Given the description of an element on the screen output the (x, y) to click on. 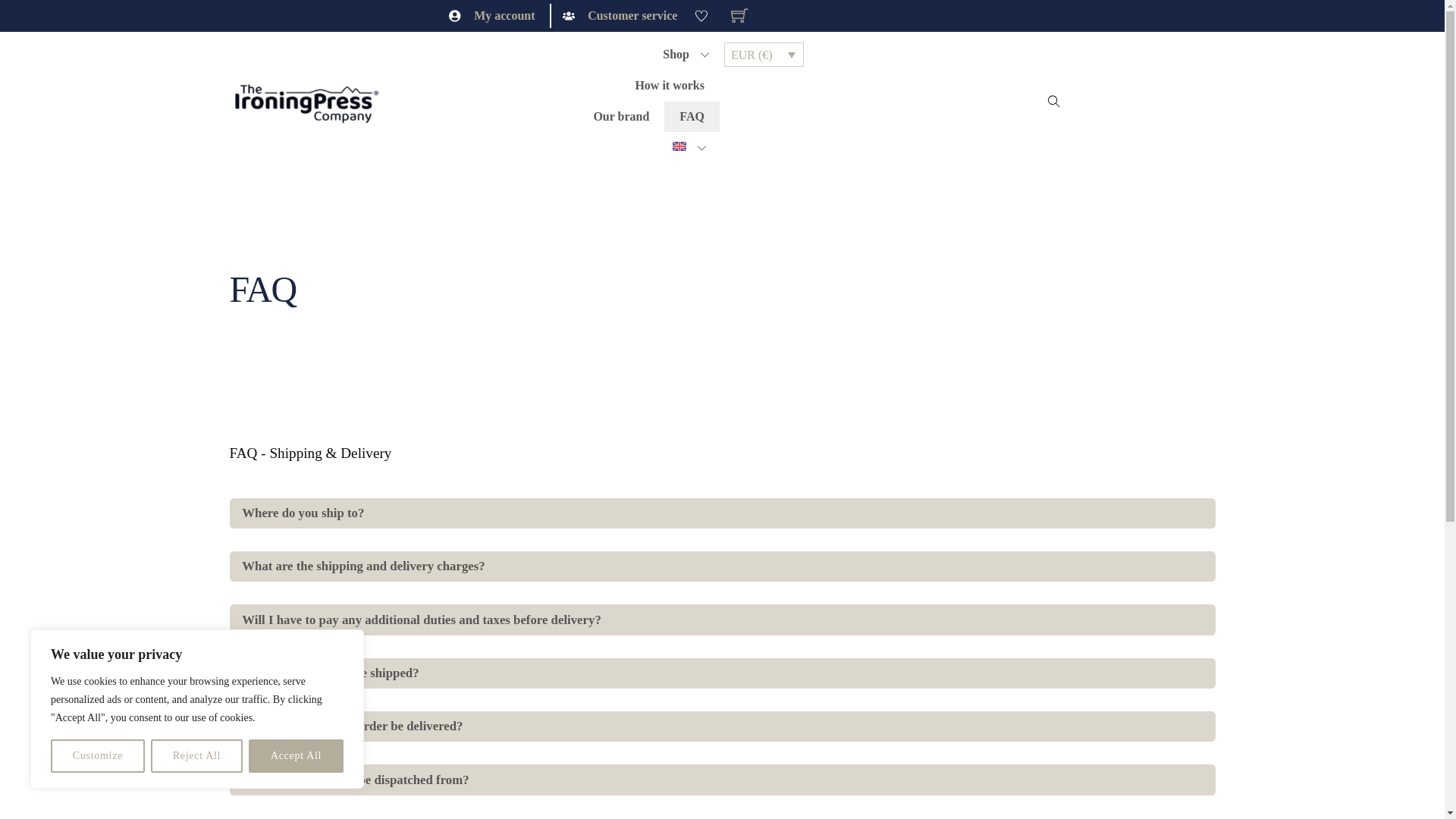
Reject All (197, 756)
Shop (683, 54)
Customer service (620, 15)
Accept All (295, 756)
My account (492, 15)
Customize (97, 756)
